Given the description of an element on the screen output the (x, y) to click on. 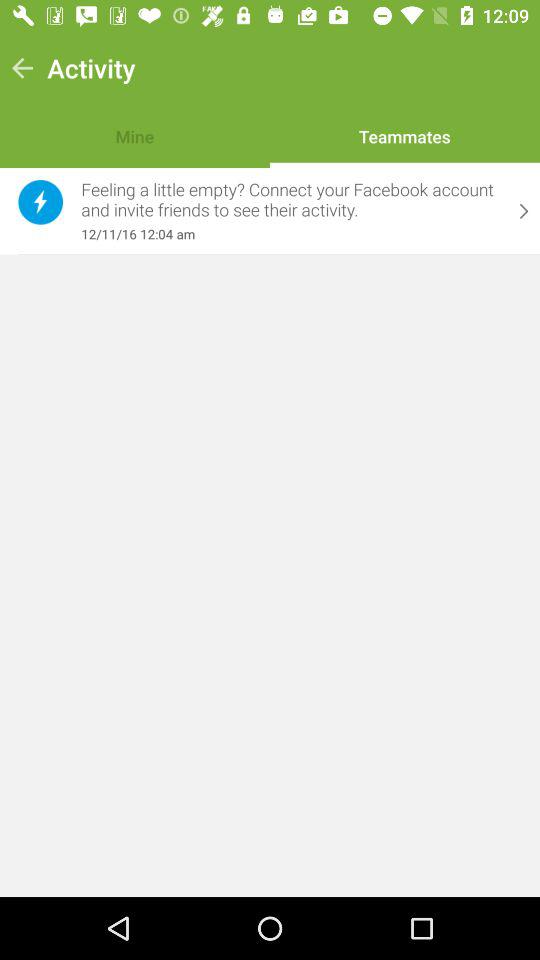
jump until the feeling a little item (291, 200)
